Given the description of an element on the screen output the (x, y) to click on. 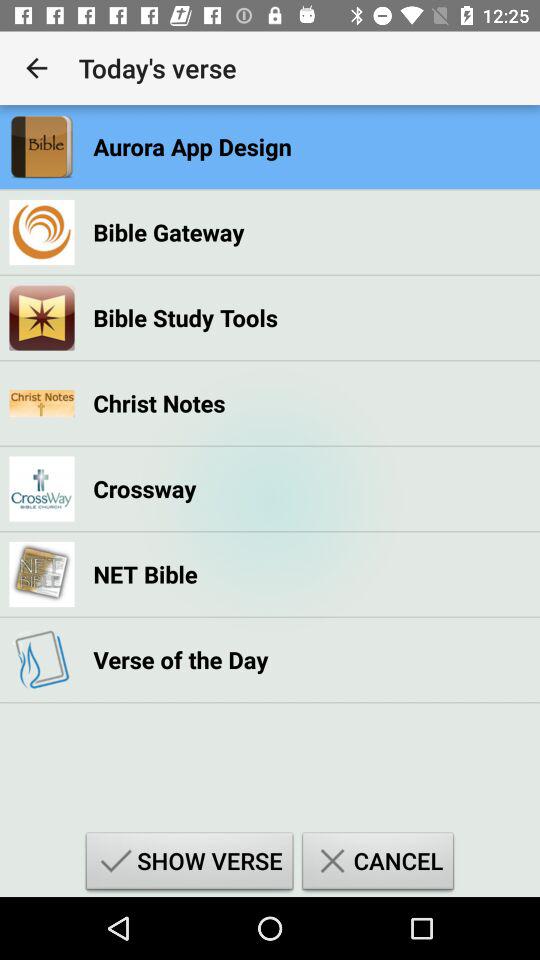
jump until the show verse icon (189, 863)
